Given the description of an element on the screen output the (x, y) to click on. 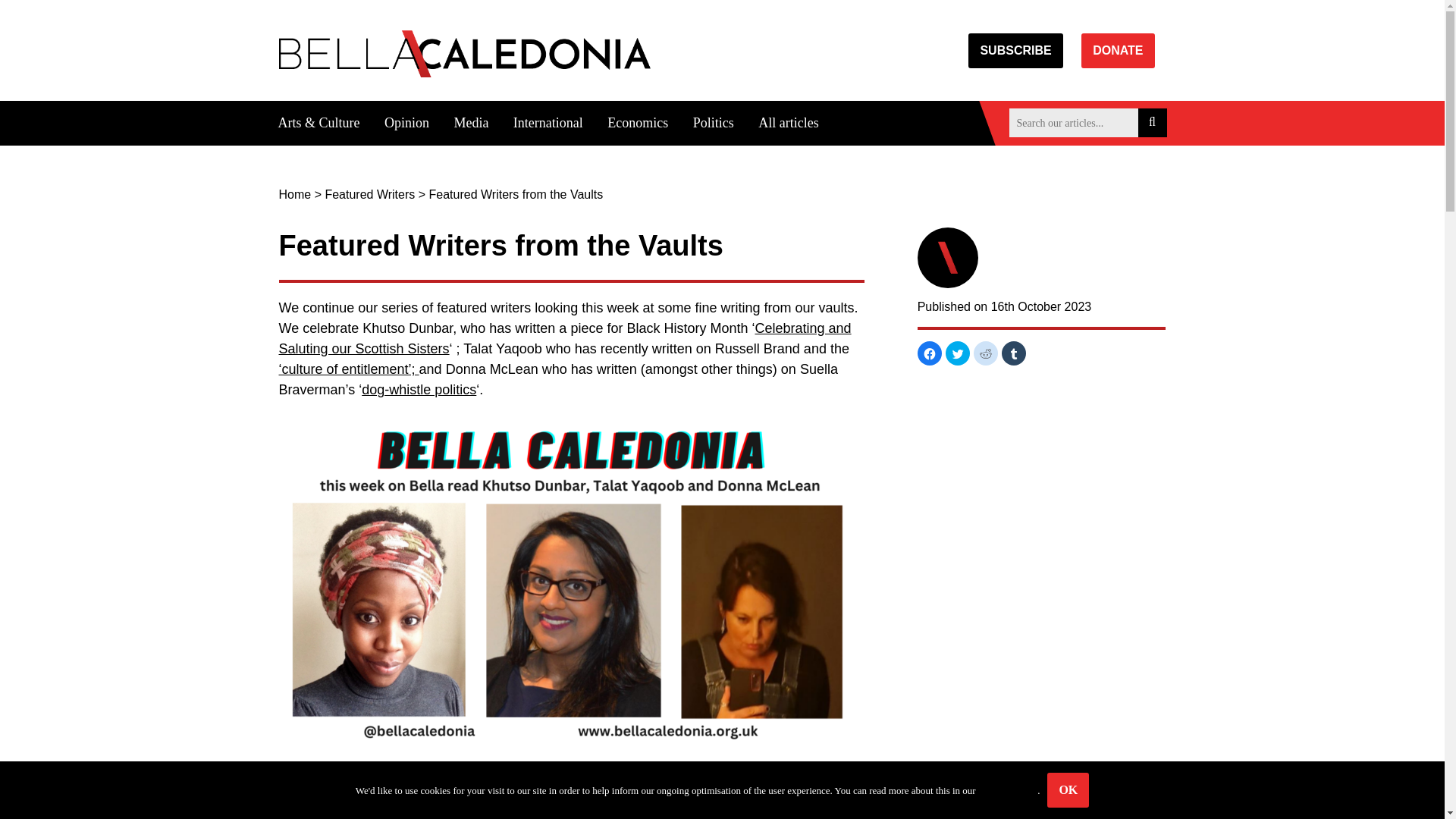
International (548, 122)
Featured Writers (369, 194)
Home (295, 194)
Media (470, 122)
Click to share on Twitter (956, 353)
Celebrating and Saluting our Scottish Sisters (565, 338)
SUBSCRIBE (1015, 50)
Opinion (406, 122)
All articles (788, 122)
Click to share on Tumblr (1013, 353)
Click to share on Facebook (929, 353)
Politics (713, 122)
Go to the Featured Writers category archives. (369, 194)
Go to Bella Caledonia. (295, 194)
Economics (637, 122)
